Given the description of an element on the screen output the (x, y) to click on. 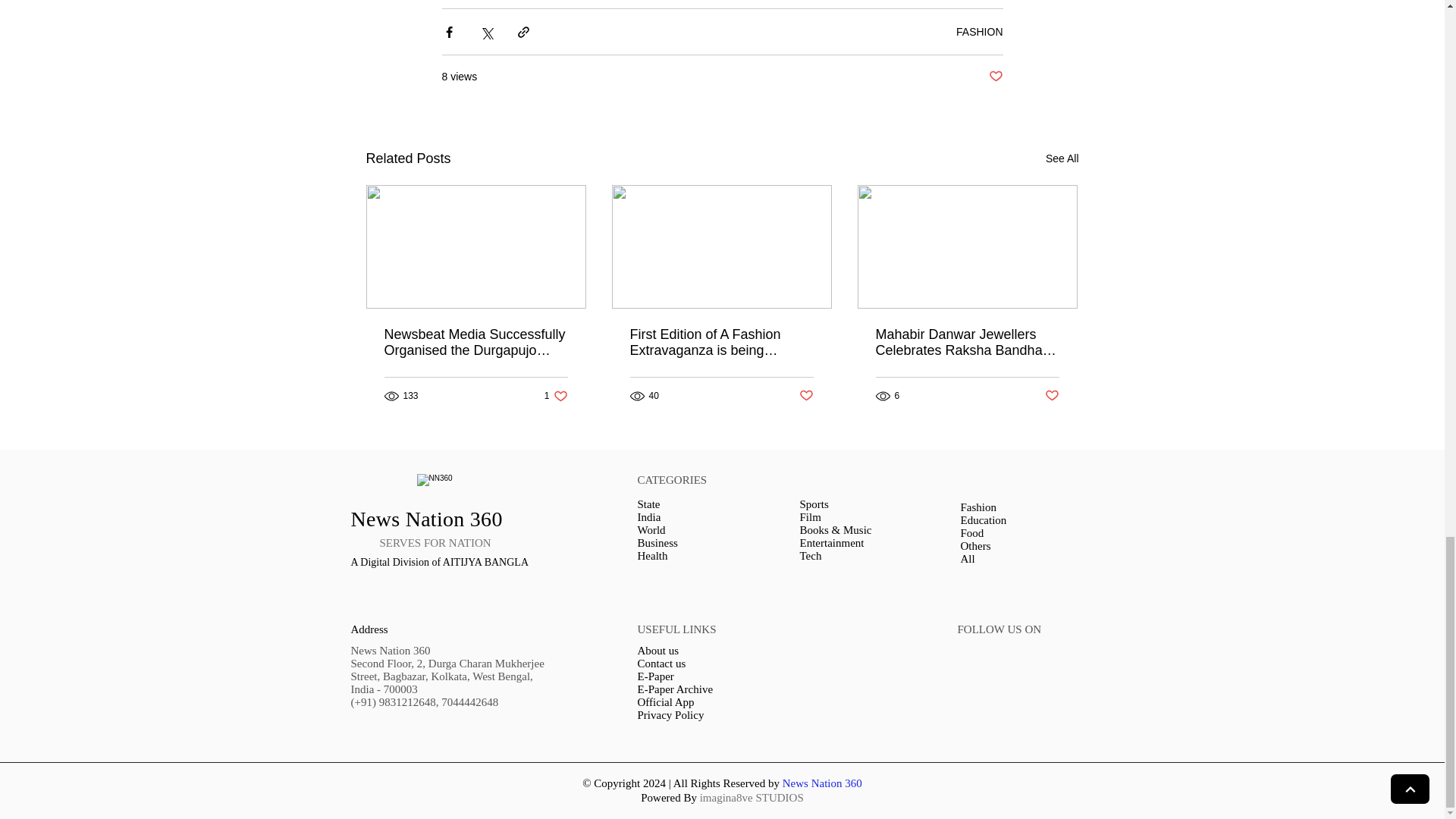
Post not marked as liked (806, 396)
Post not marked as liked (995, 76)
Post not marked as liked (1052, 396)
FASHION (555, 396)
See All (979, 31)
